Given the description of an element on the screen output the (x, y) to click on. 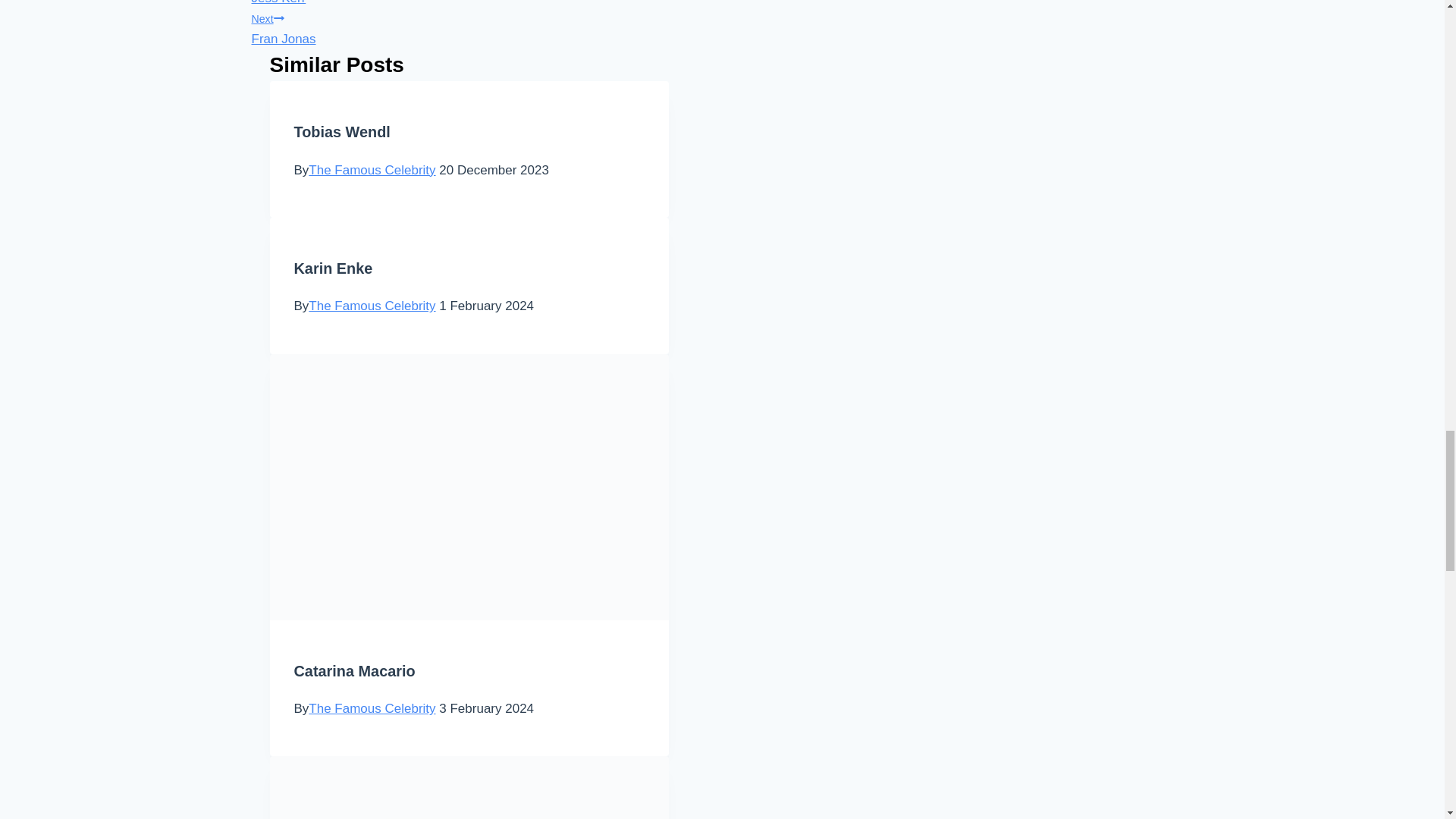
Karin Enke (333, 268)
The Famous Celebrity (371, 708)
The Famous Celebrity (371, 169)
Tobias Wendl (571, 26)
The Famous Celebrity (342, 131)
Catarina Macario (371, 305)
